Given the description of an element on the screen output the (x, y) to click on. 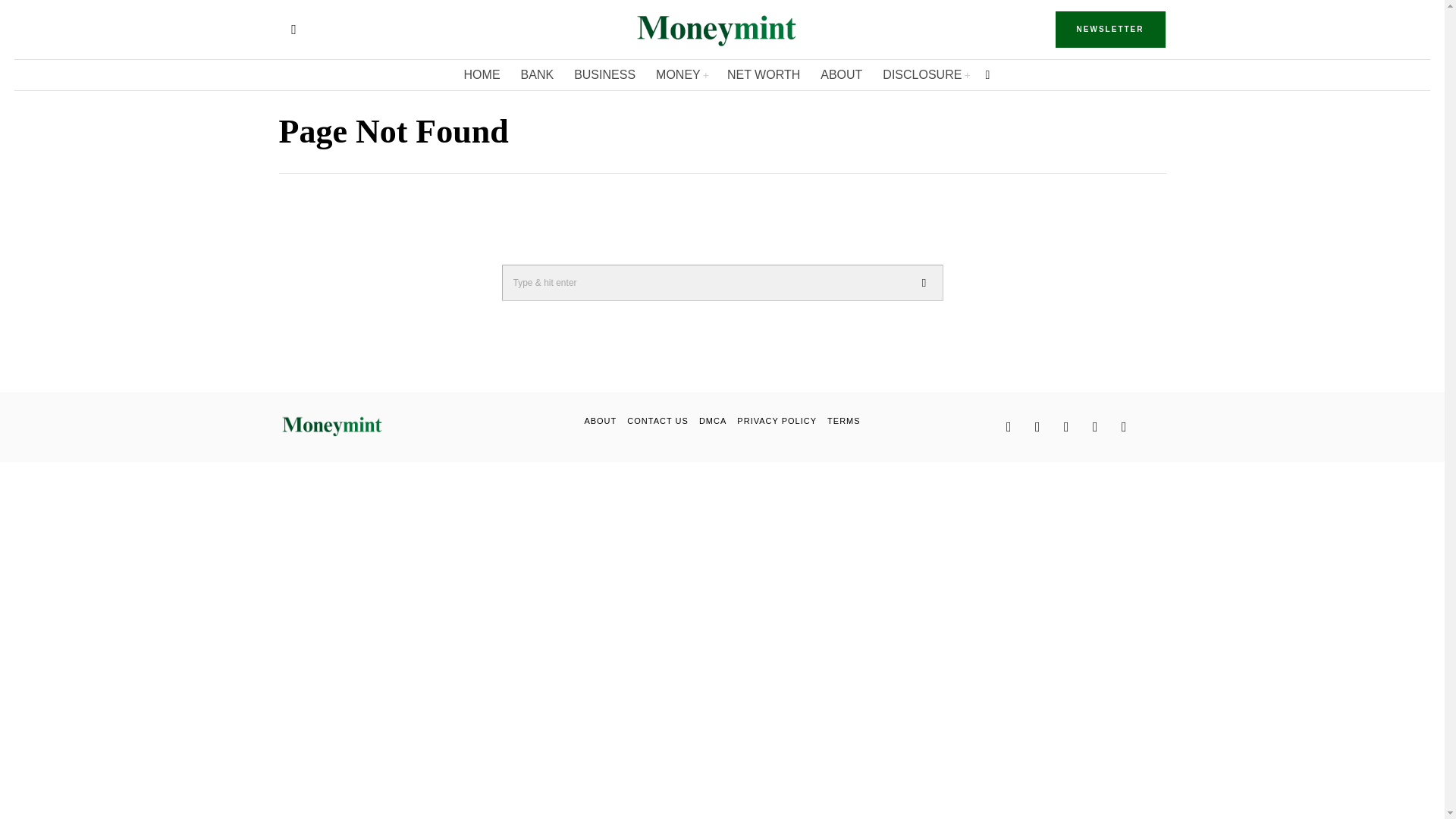
MONEY (681, 74)
HOME (483, 74)
NEWSLETTER (1110, 29)
ABOUT (841, 74)
DISCLOSURE (925, 74)
TERMS (843, 420)
NET WORTH (763, 74)
ABOUT (599, 420)
PRIVACY POLICY (776, 420)
DMCA (712, 420)
